Given the description of an element on the screen output the (x, y) to click on. 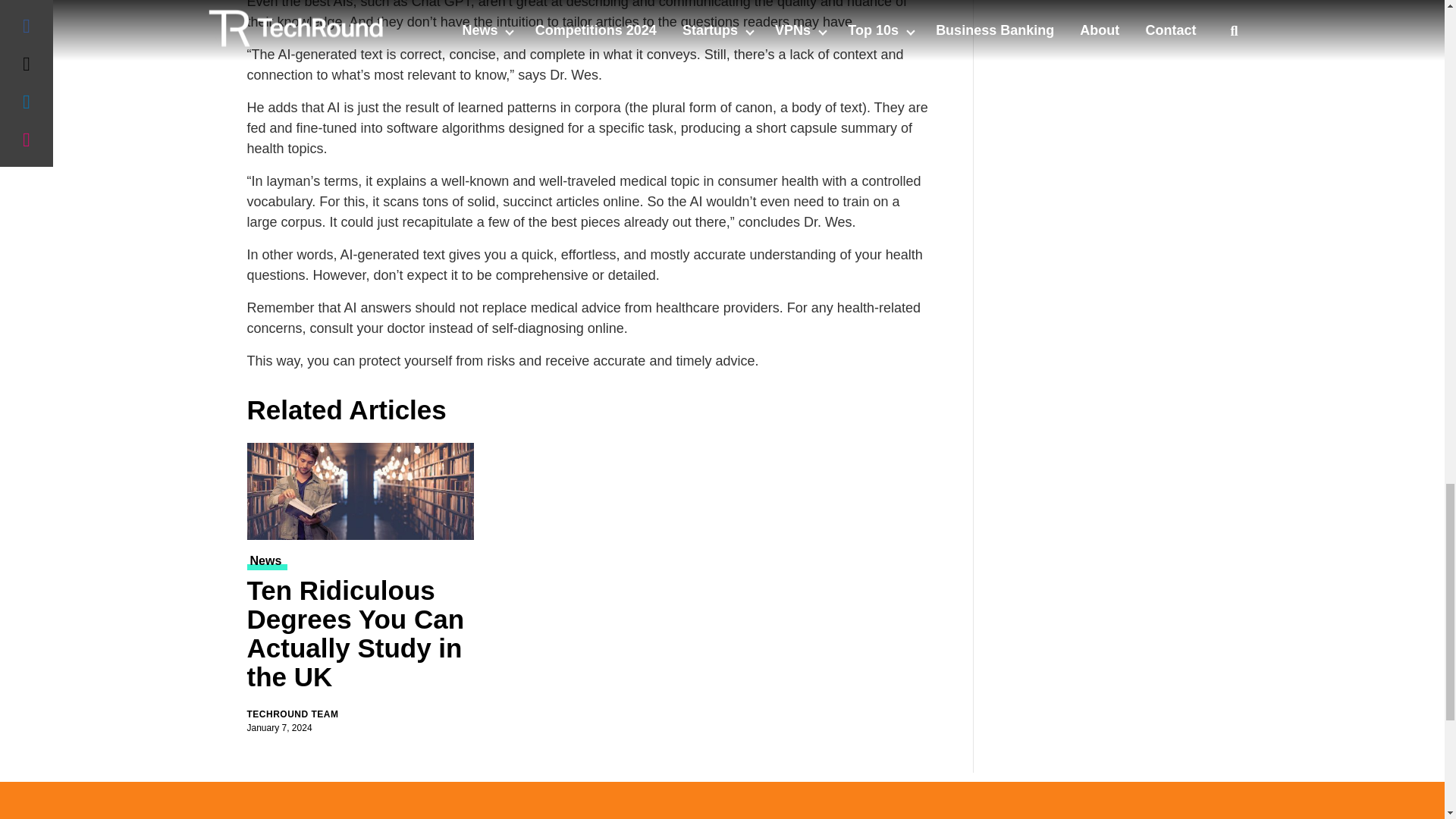
Ten Ridiculous Degrees You Can Actually Study in the UK (360, 491)
Ten Ridiculous Degrees You Can Actually Study in the UK (360, 636)
Enter The BAME Top 50 Entrepreneurs - Deadline 10th Nov 2021 (1107, 17)
